Given the description of an element on the screen output the (x, y) to click on. 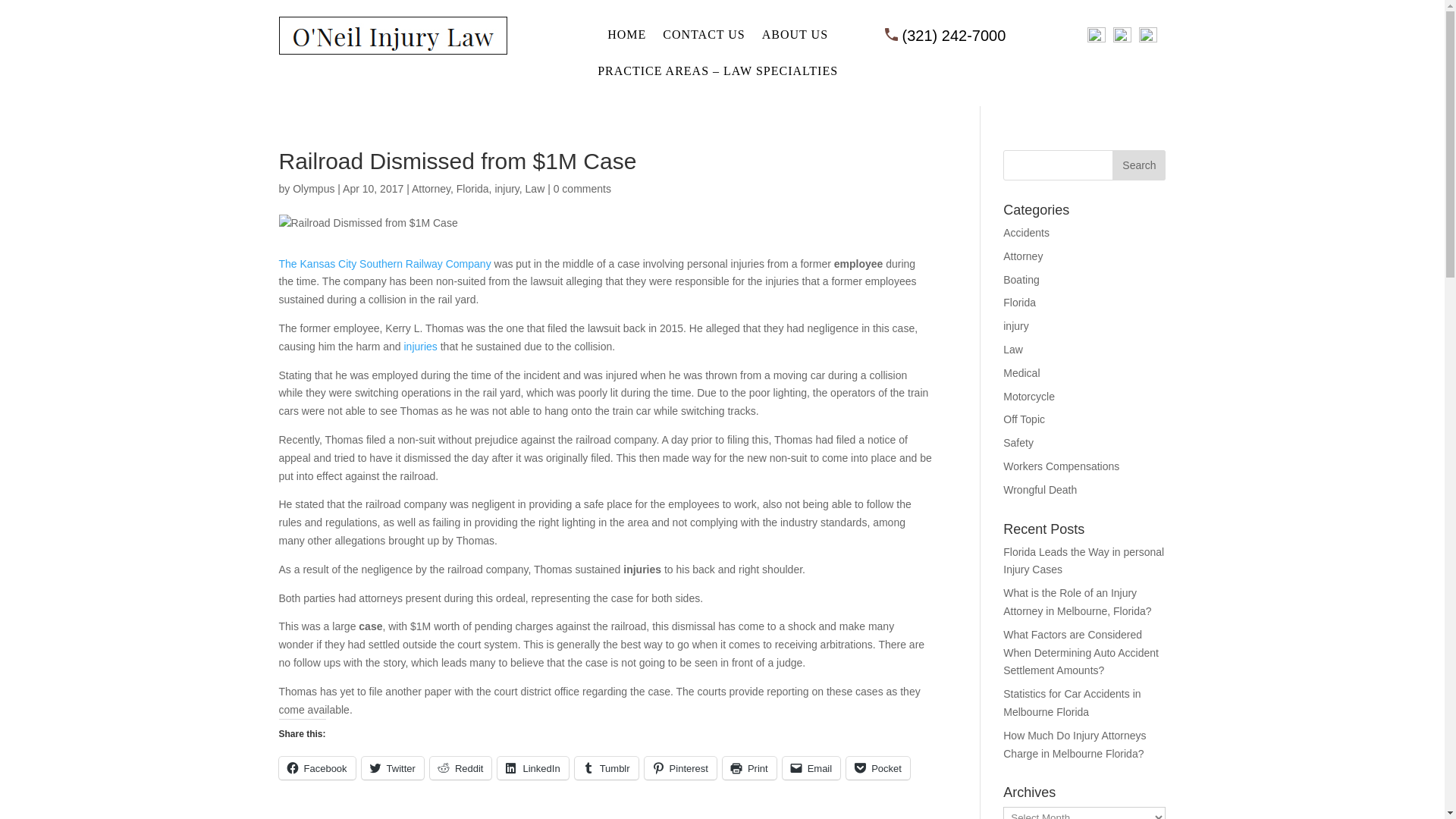
Pinterest (680, 767)
Safety (1018, 442)
Click to share on Facebook (317, 767)
Email (812, 767)
Olympus (313, 188)
Motorcycle (1028, 396)
Accidents (1026, 232)
Search (1139, 164)
Twitter (392, 767)
Click to share on Pinterest (680, 767)
